Given the description of an element on the screen output the (x, y) to click on. 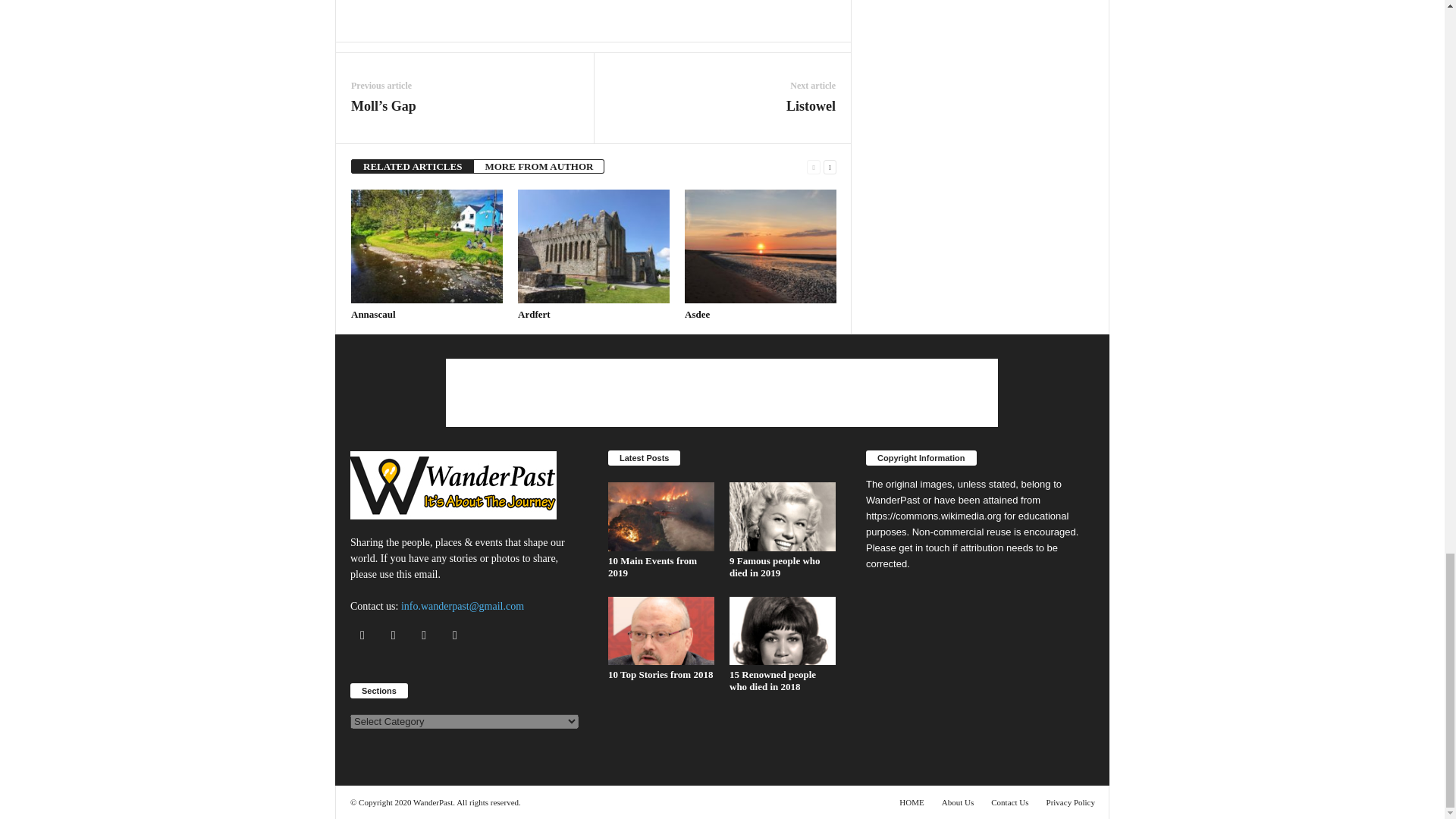
Annascaul (373, 314)
Advertisement (593, 11)
Annascaul (426, 246)
